Given the description of an element on the screen output the (x, y) to click on. 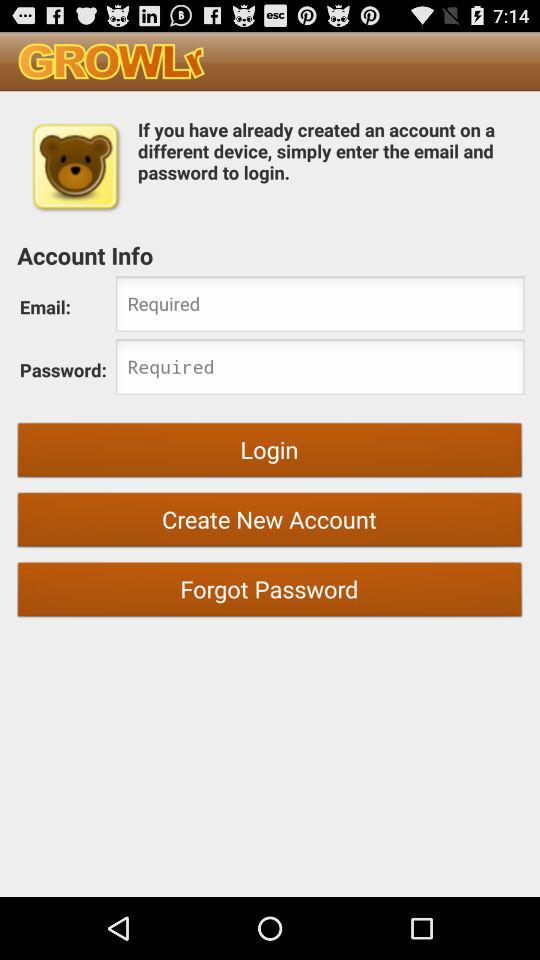
swipe to forgot password item (269, 591)
